Given the description of an element on the screen output the (x, y) to click on. 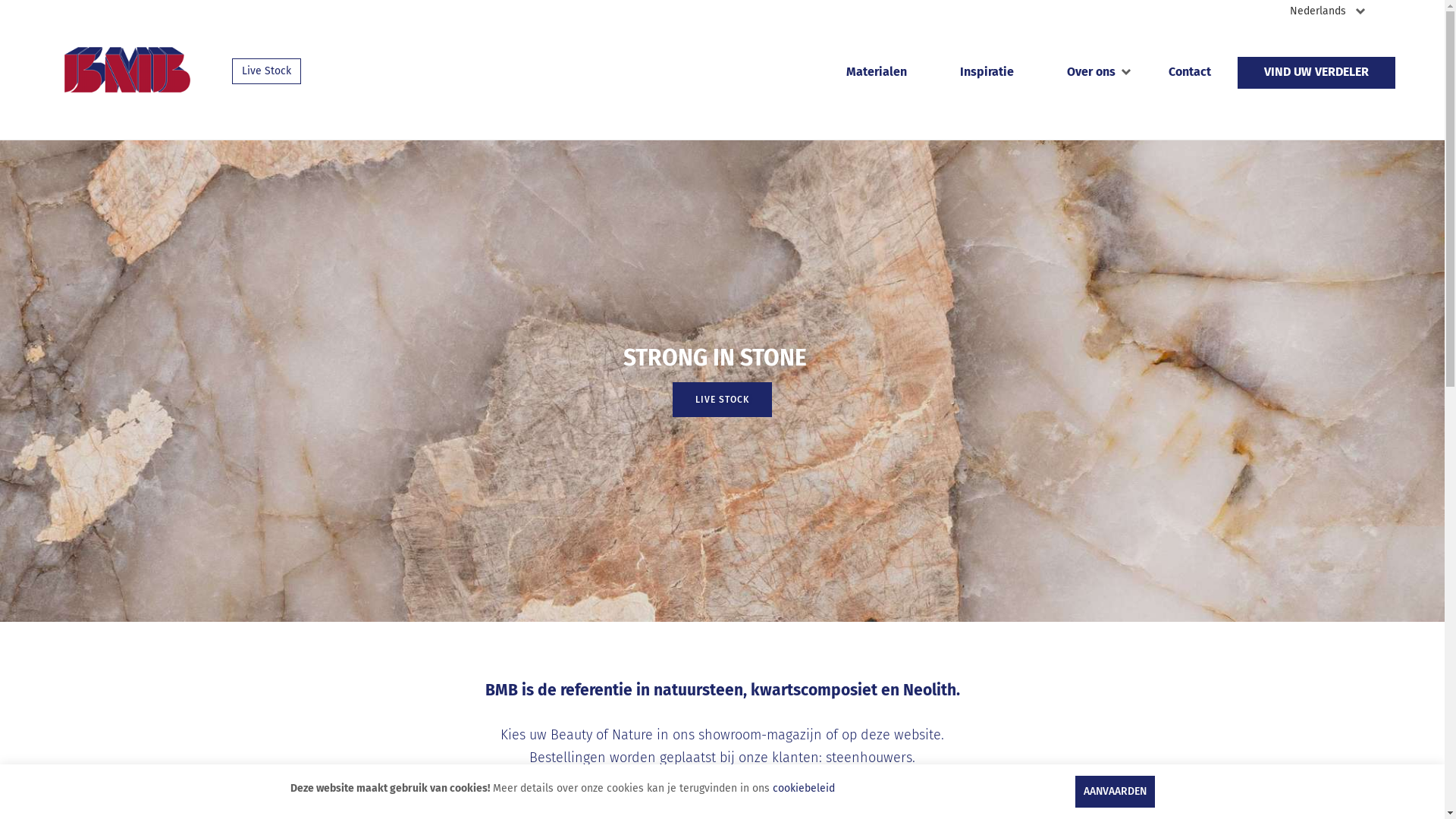
Over ons Element type: text (1091, 72)
Materialen Element type: text (876, 72)
LIVE STOCK Element type: text (721, 399)
cookiebeleid Element type: text (802, 787)
Live Stock Element type: text (266, 71)
VIND UW VERDELER Element type: text (1316, 72)
Contact Element type: text (1189, 72)
AANVAARDEN Element type: text (1114, 791)
Inspiratie Element type: text (986, 72)
